Given the description of an element on the screen output the (x, y) to click on. 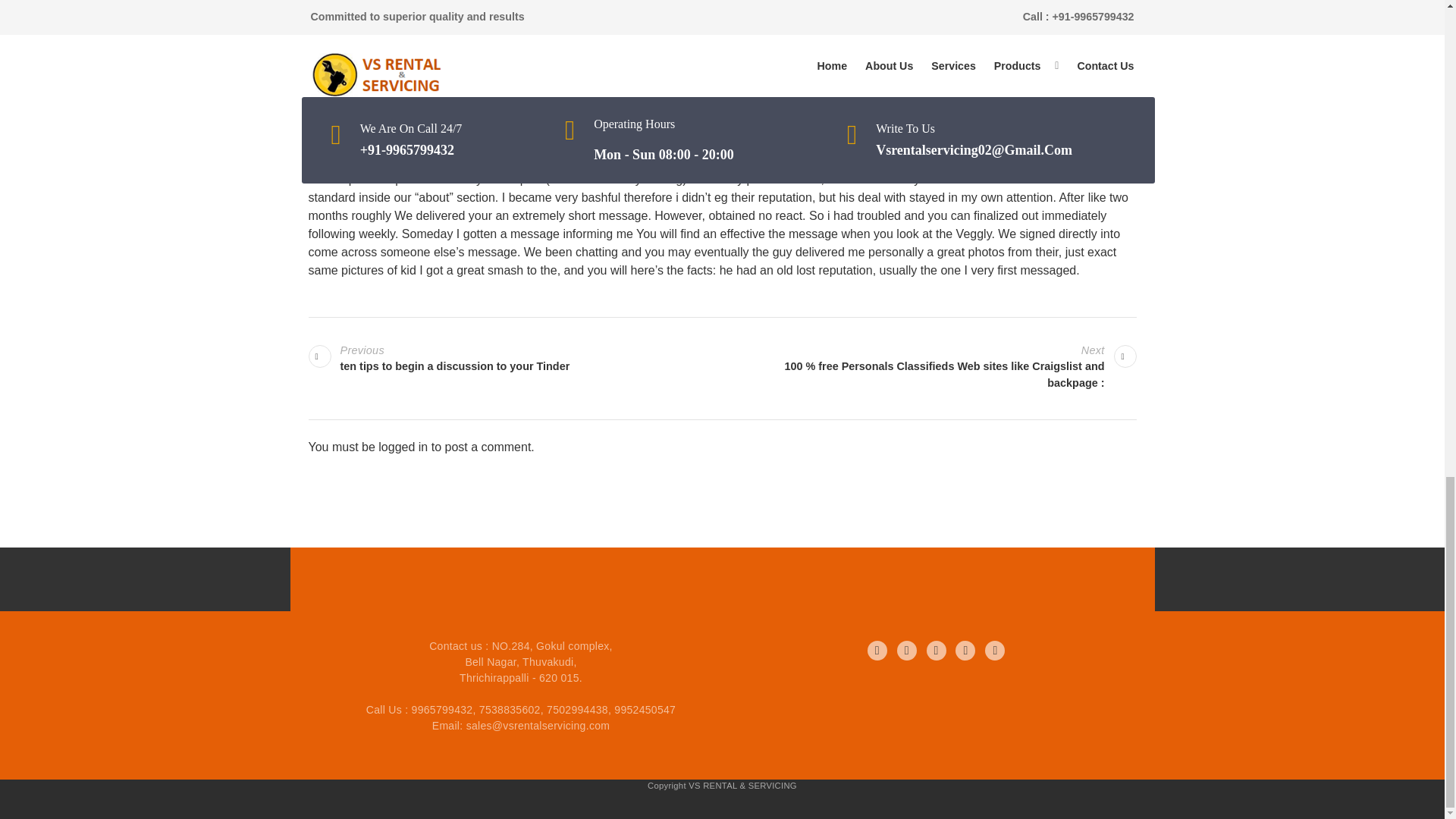
Dribbble (965, 650)
Facebook (876, 650)
logged in (403, 446)
Linked In (936, 650)
Twitter (906, 650)
Behance (514, 359)
